Given the description of an element on the screen output the (x, y) to click on. 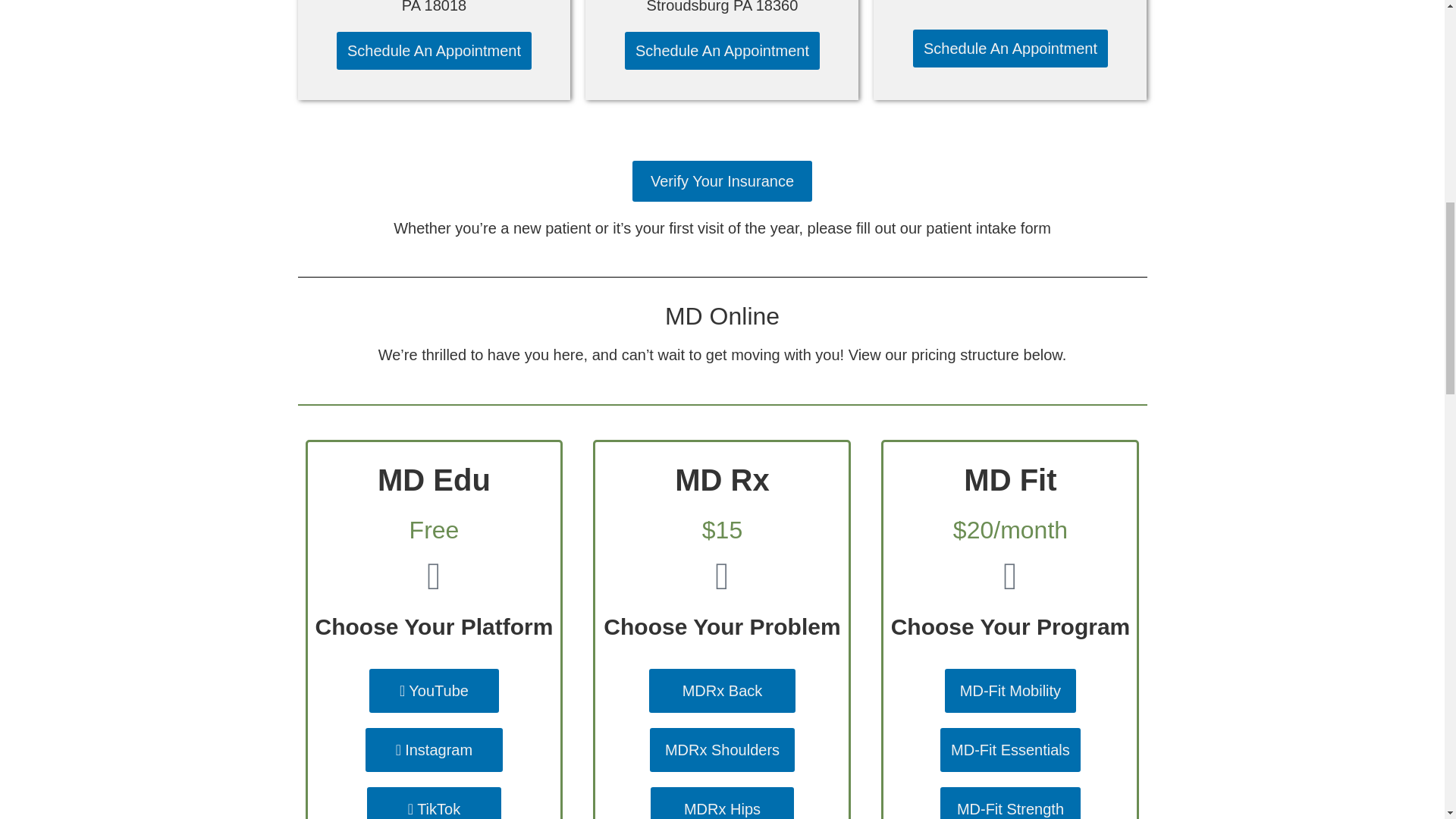
Schedule An Appointment (721, 50)
MDRx Shoulders (721, 750)
Instagram (433, 750)
Schedule An Appointment (1010, 48)
MDRx Back (722, 690)
Schedule An Appointment (433, 50)
TikTok (433, 803)
YouTube (434, 690)
MDRx Hips (721, 803)
Verify Your Insurance (721, 180)
